Given the description of an element on the screen output the (x, y) to click on. 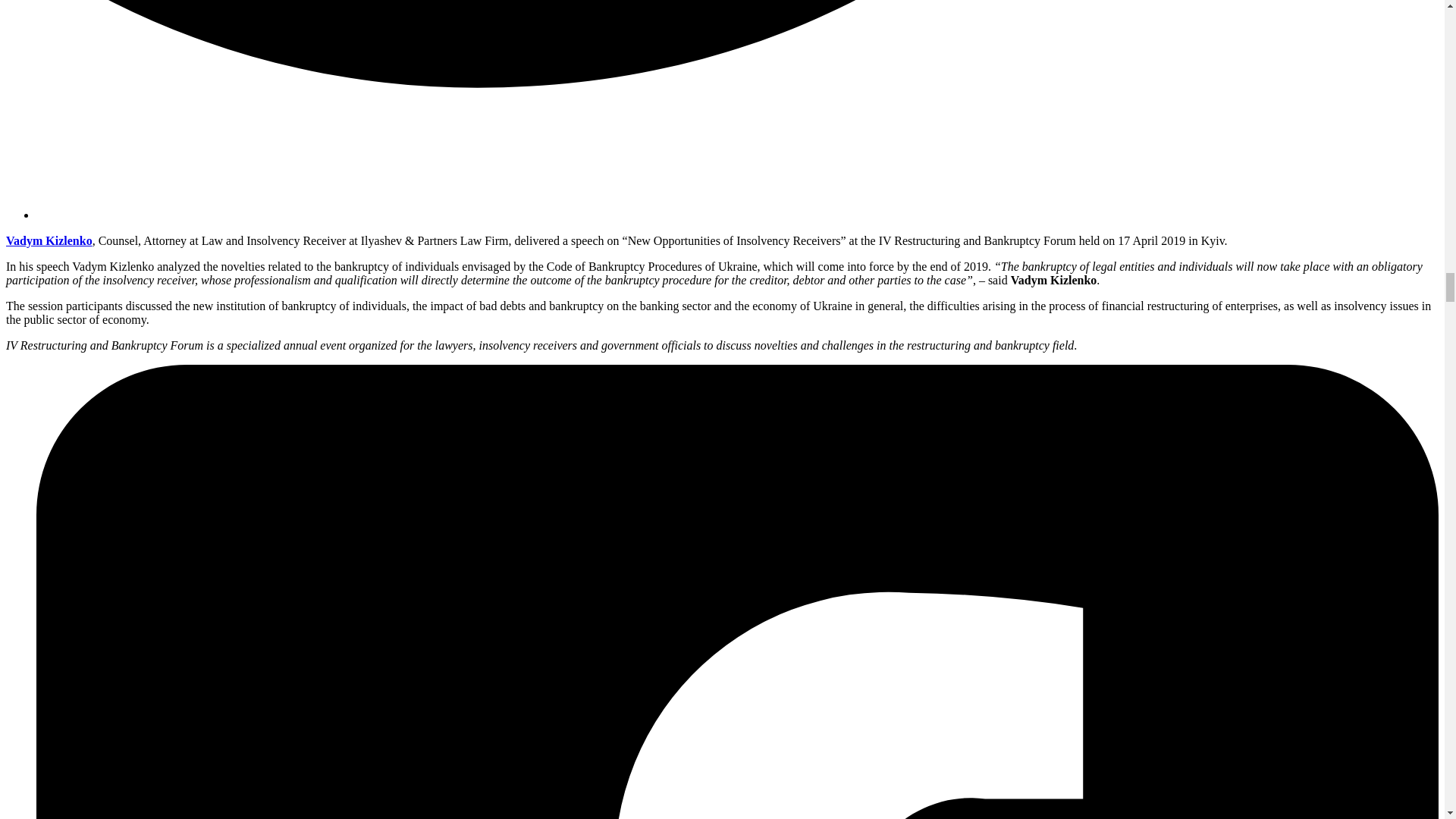
Vadym Kizlenko (49, 240)
